Given the description of an element on the screen output the (x, y) to click on. 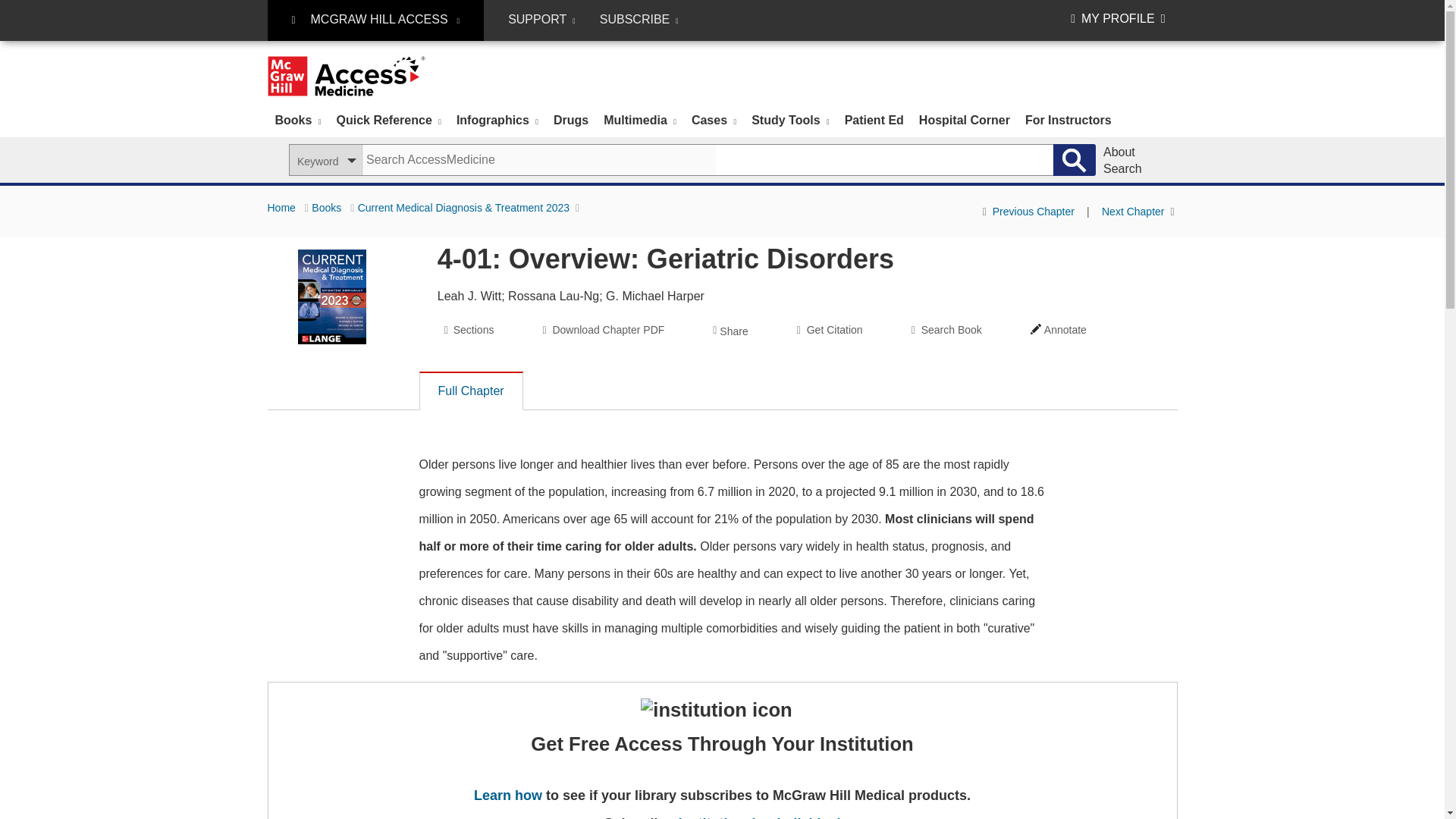
Search (1074, 160)
SUPPORT (541, 19)
MY PROFILE (1117, 18)
SUBSCRIBE (638, 19)
Search (1074, 160)
MCGRAW HILL ACCESS (374, 20)
